Given the description of an element on the screen output the (x, y) to click on. 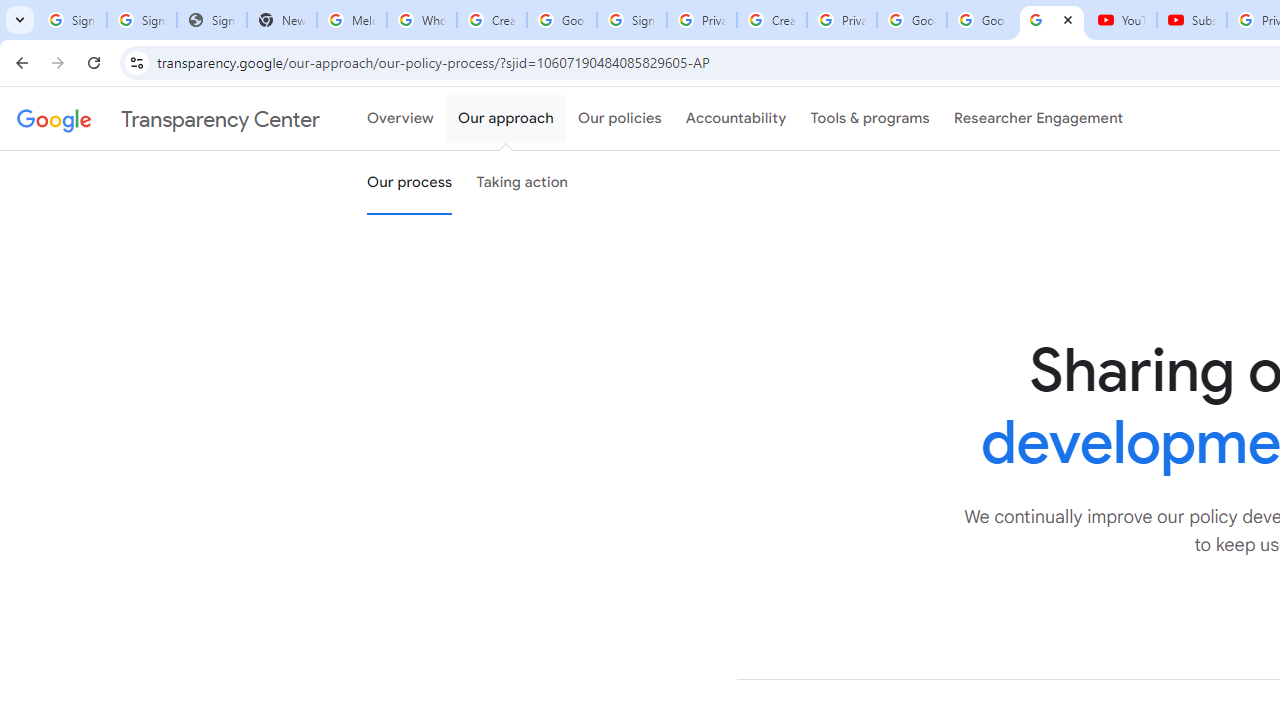
Taking action (522, 183)
Our policies (619, 119)
